Given the description of an element on the screen output the (x, y) to click on. 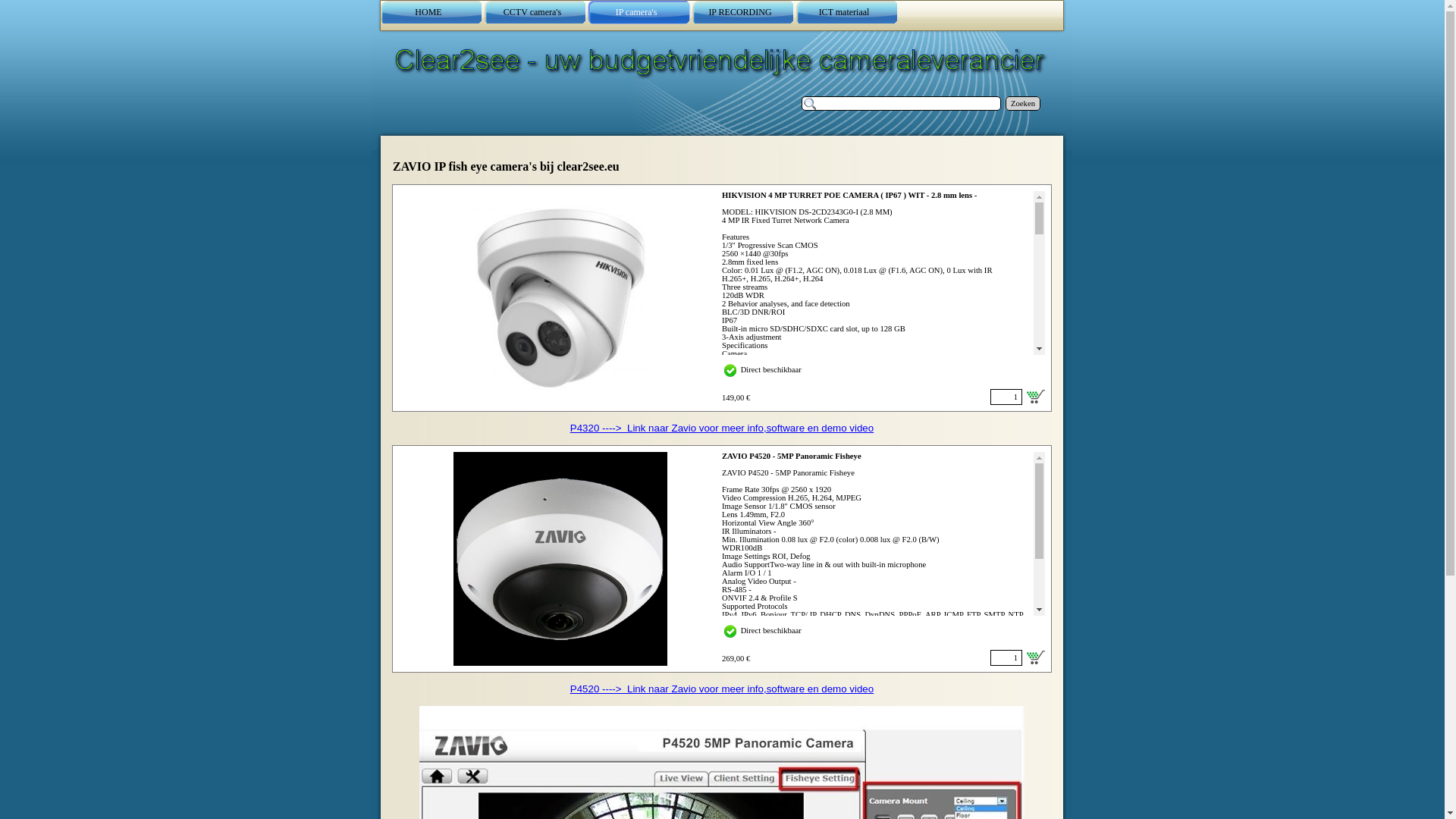
Zoeken Element type: text (1022, 103)
Toevoegen Element type: hover (1035, 655)
HOME Element type: text (431, 12)
Toevoegen Element type: hover (1035, 394)
ZAVIO P4520 - 5MP Panoramic Fisheye Element type: hover (560, 558)
